Given the description of an element on the screen output the (x, y) to click on. 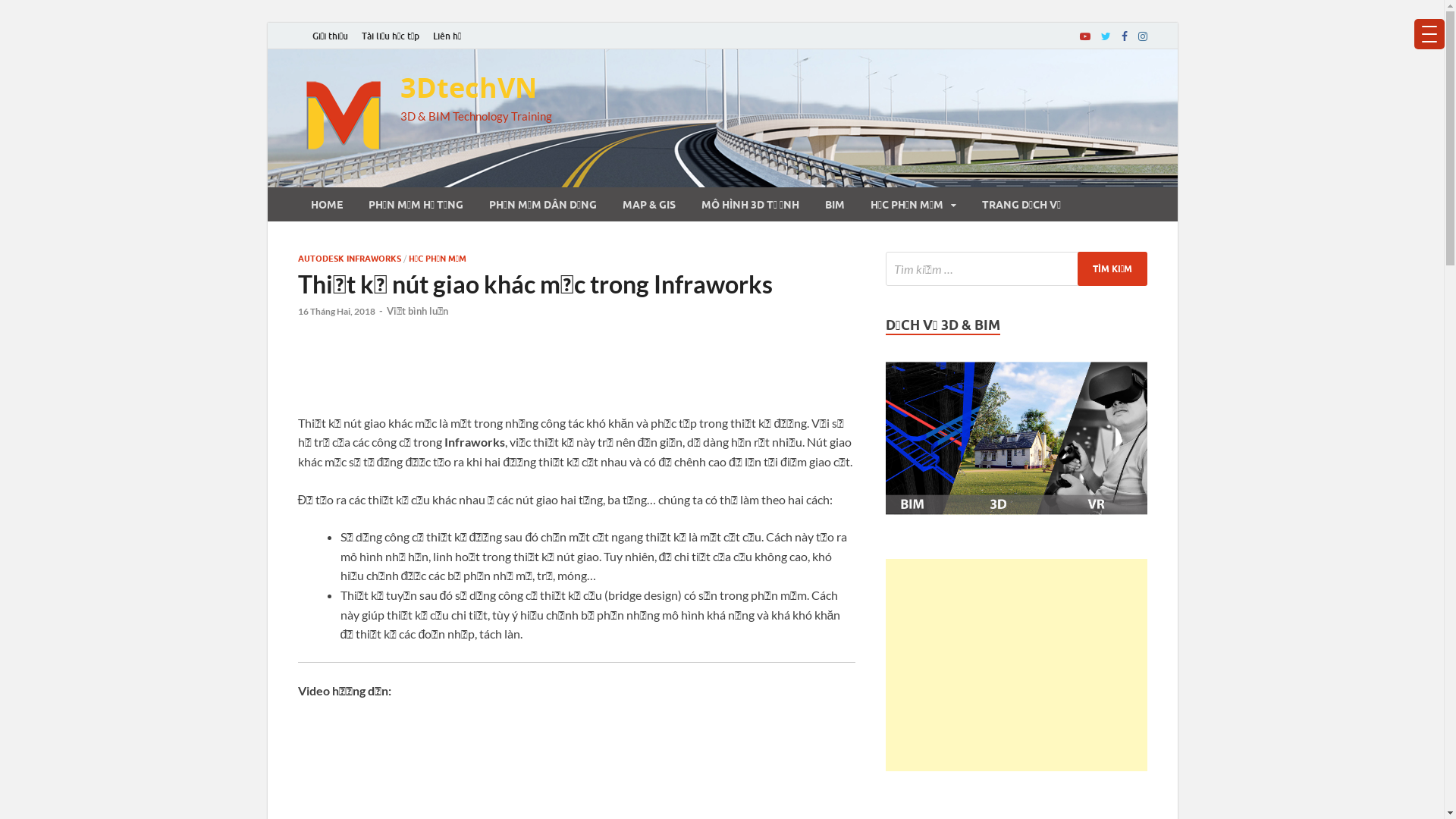
MAP & GIS Element type: text (648, 204)
Advertisement Element type: hover (1016, 664)
AUTODESK INFRAWORKS Element type: text (348, 258)
Advertisement Element type: hover (576, 373)
3DtechVN Element type: text (468, 87)
BIM Element type: text (833, 204)
HOME Element type: text (325, 204)
